Given the description of an element on the screen output the (x, y) to click on. 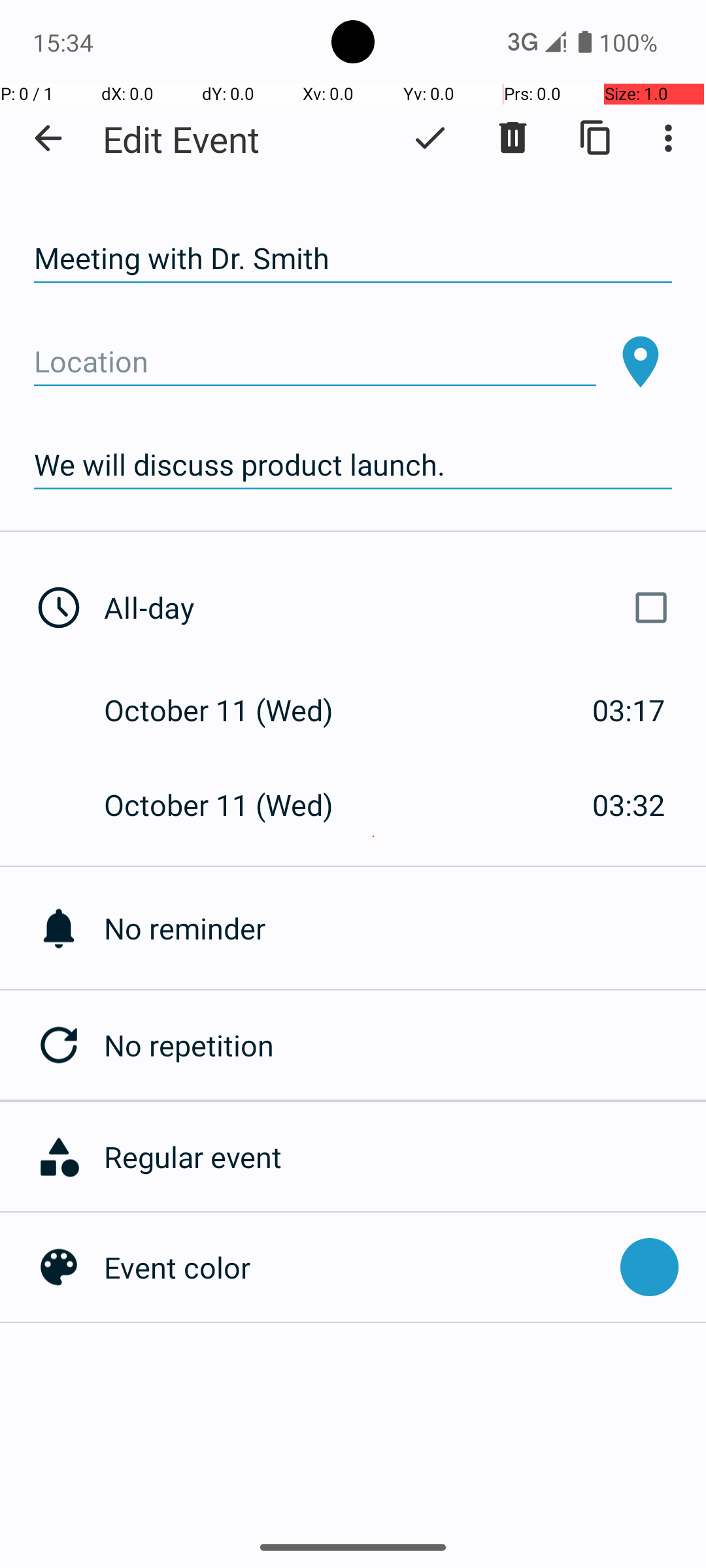
Meeting with Dr. Smith Element type: android.widget.EditText (352, 258)
We will discuss product launch. Element type: android.widget.EditText (352, 465)
October 11 (Wed) Element type: android.widget.TextView (232, 709)
03:17 Element type: android.widget.TextView (628, 709)
03:32 Element type: android.widget.TextView (628, 804)
